Given the description of an element on the screen output the (x, y) to click on. 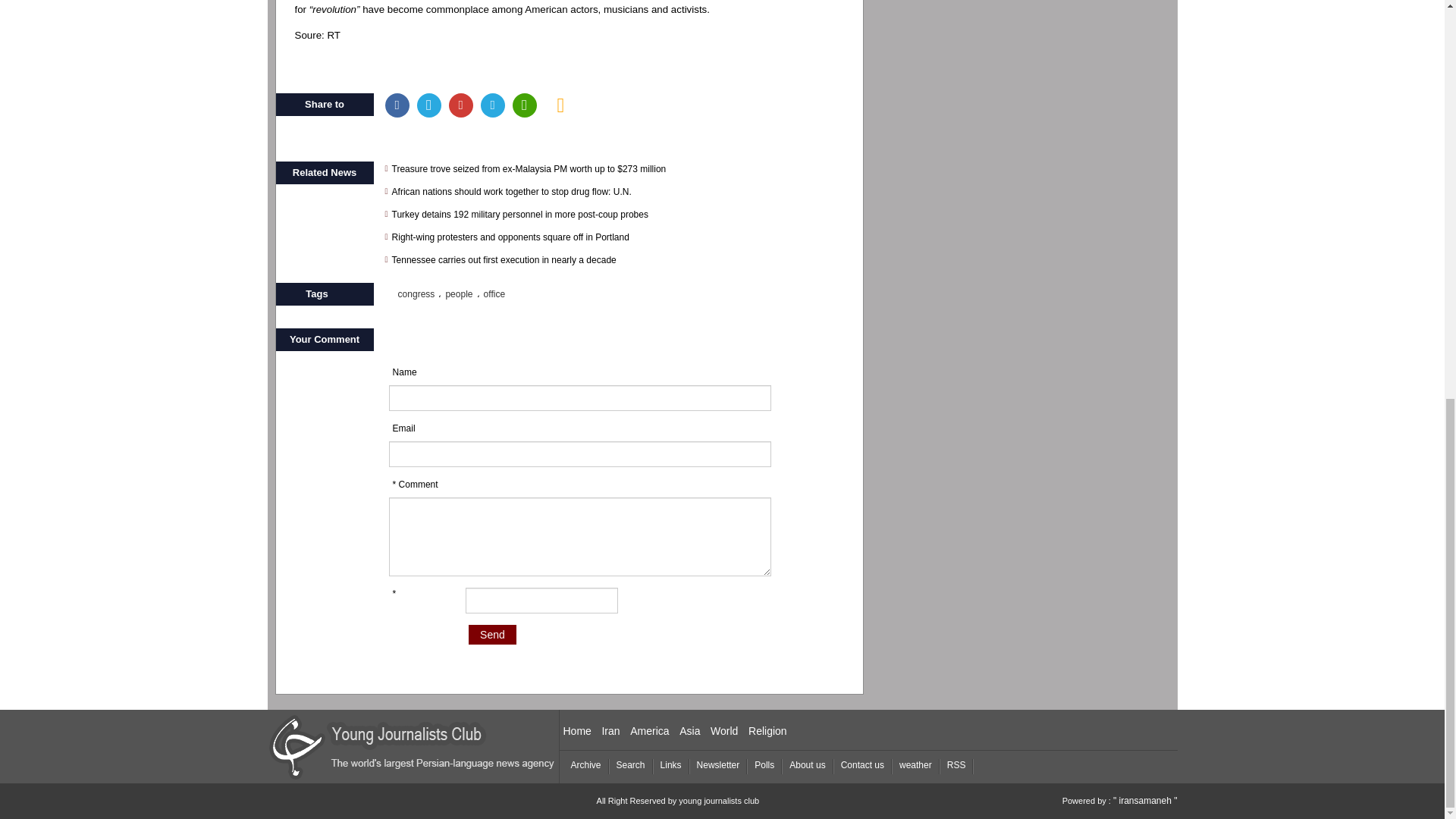
news error report (560, 105)
Tennessee carries out first execution in nearly a decade (618, 259)
African nations should work together to stop drug flow: U.N. (618, 191)
Send (492, 634)
Right-wing protesters and opponents square off in Portland (618, 237)
